Given the description of an element on the screen output the (x, y) to click on. 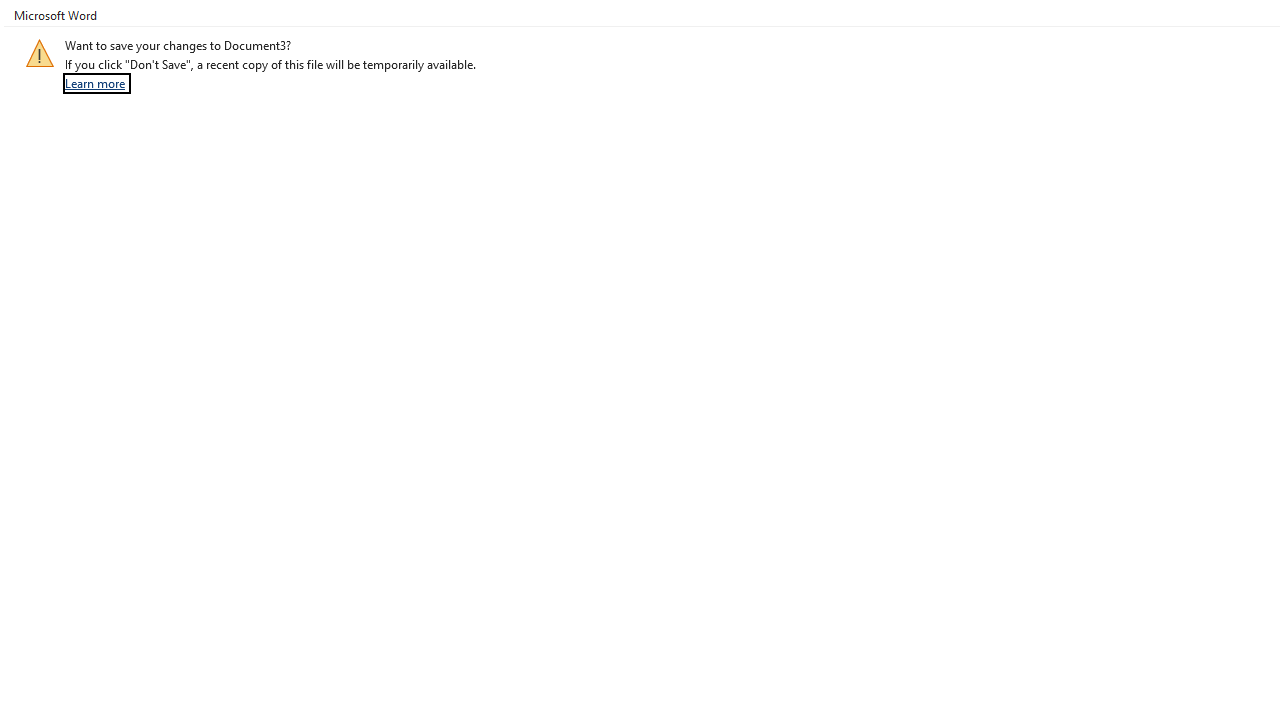
Learn more (97, 83)
